Given the description of an element on the screen output the (x, y) to click on. 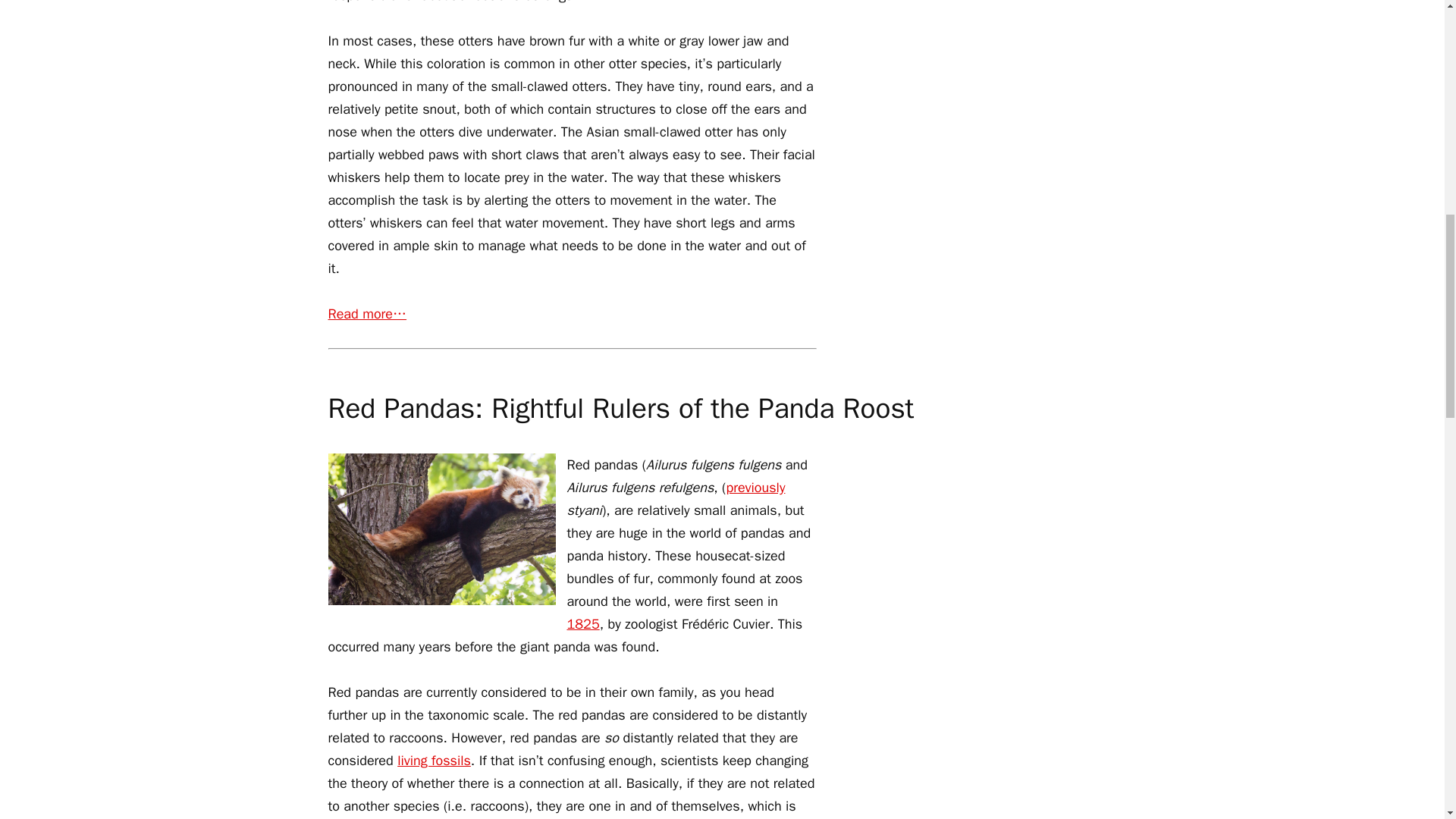
previously (754, 487)
1825 (583, 623)
living fossils (433, 760)
